Given the description of an element on the screen output the (x, y) to click on. 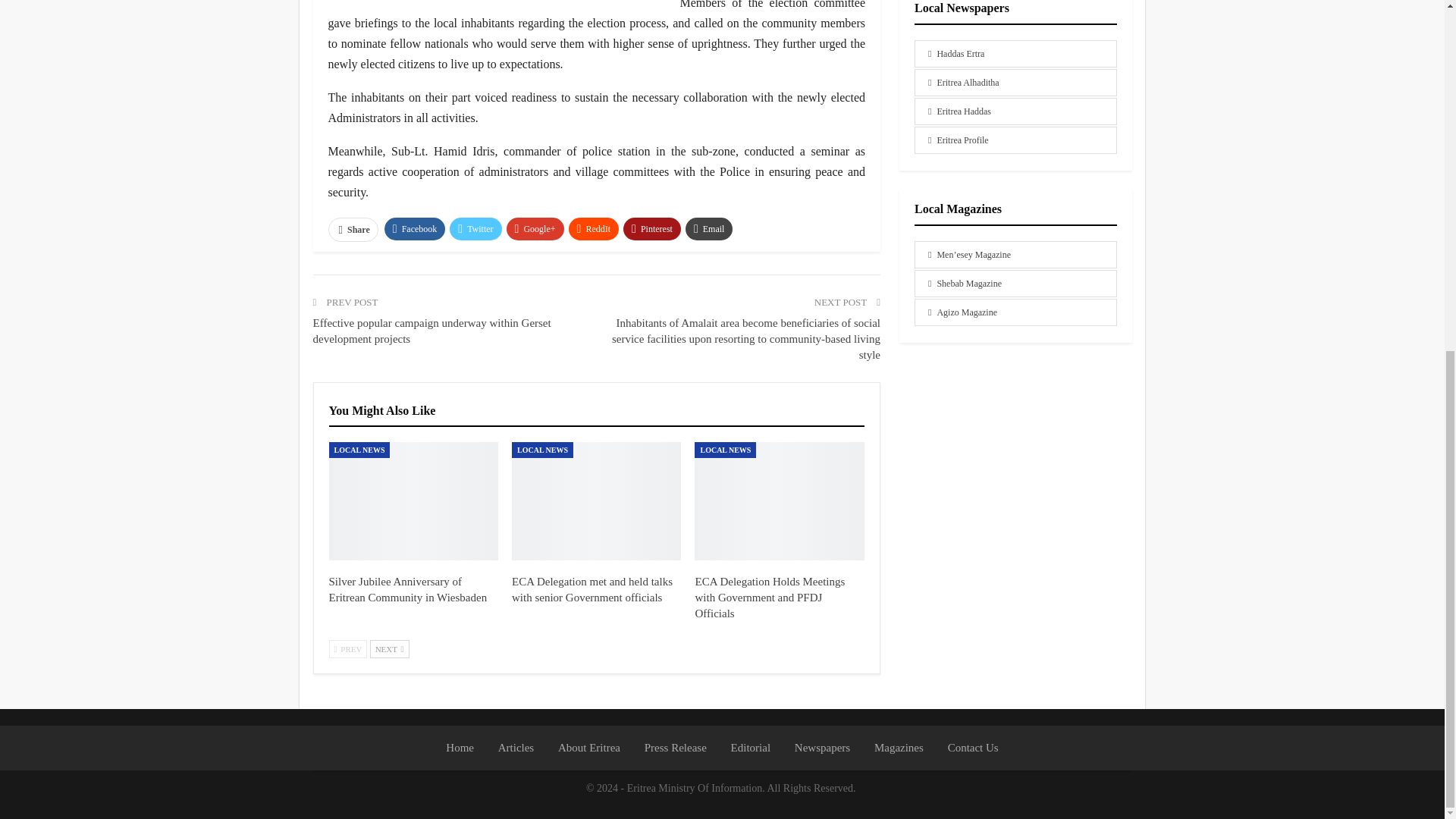
Previous (348, 648)
Next (389, 648)
